Given the description of an element on the screen output the (x, y) to click on. 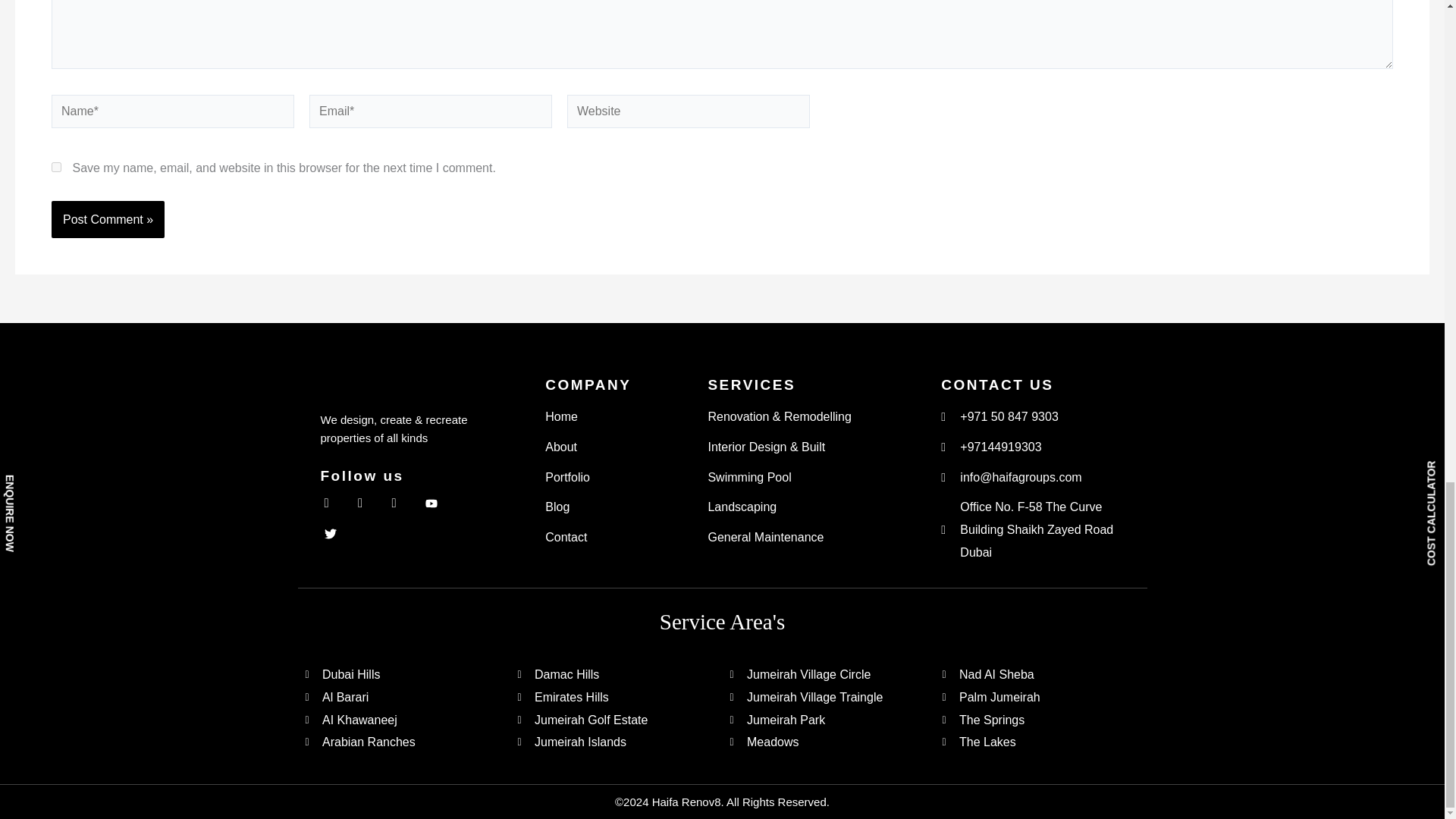
yes (55, 166)
